Given the description of an element on the screen output the (x, y) to click on. 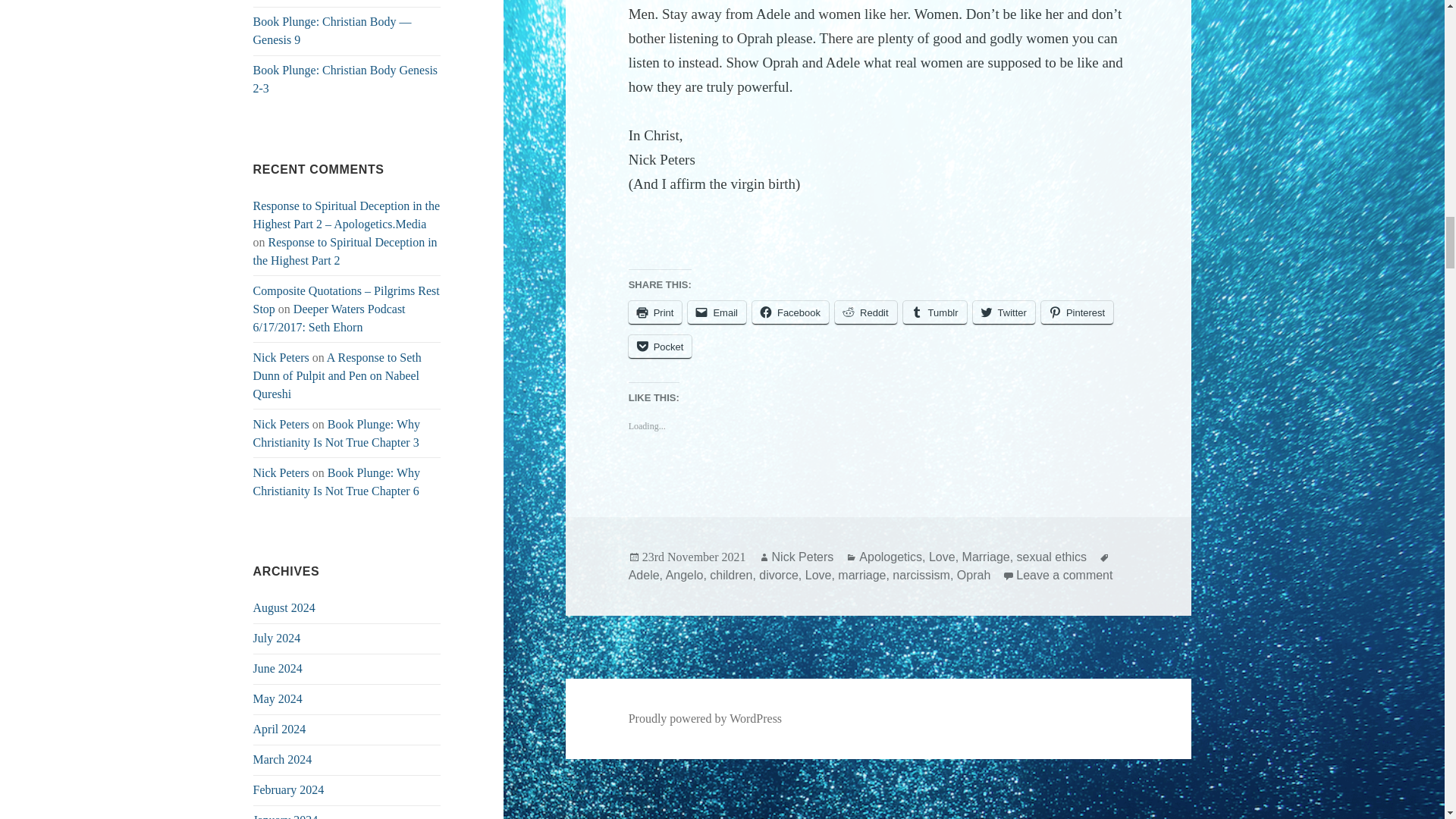
Book Plunge: Why Christianity Is Not True Chapter 3 (336, 432)
Click to email a link to a friend (716, 312)
A Response to Seth Dunn of Pulpit and Pen on Nabeel Qureshi (337, 375)
Response to Spiritual Deception in the Highest Part 2 (345, 250)
Nick Peters (280, 423)
Click to share on Facebook (790, 312)
Click to print (655, 312)
Click to share on Pinterest (1077, 312)
Book Plunge: Christian Body Genesis 2-3 (345, 79)
Click to share on Reddit (865, 312)
Click to share on Twitter (1003, 312)
Click to share on Tumblr (934, 312)
Nick Peters (280, 357)
Click to share on Pocket (660, 346)
